Given the description of an element on the screen output the (x, y) to click on. 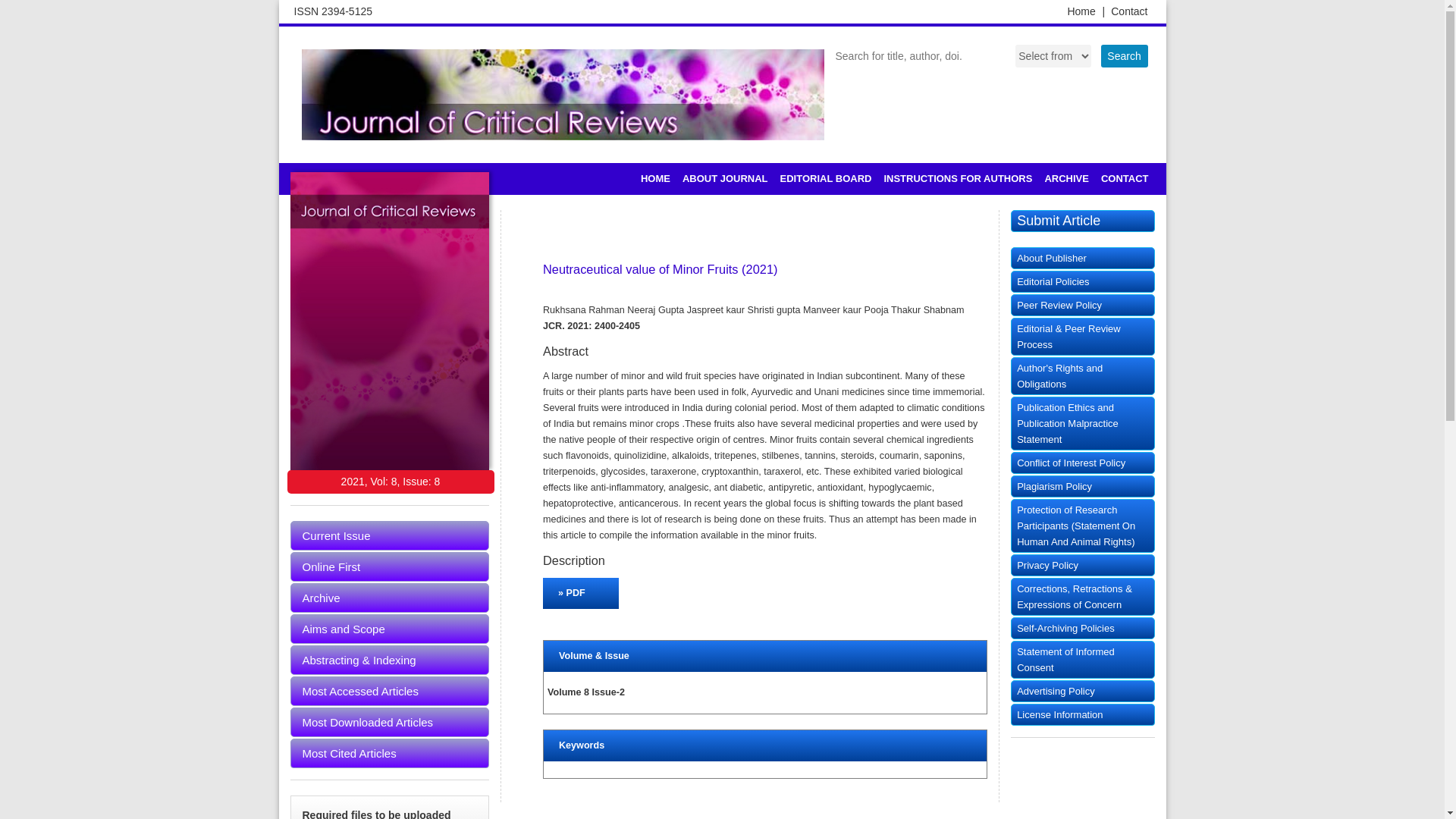
Author's Rights and Obligations (1082, 375)
Peer Review Policy (1082, 305)
Archive (389, 597)
Most Cited Articles (389, 753)
Most Accessed Articles (389, 690)
CONTACT (1124, 178)
Search (1124, 56)
Search (1124, 56)
Most Downloaded Articles (389, 722)
Submit Article (1082, 220)
